Given the description of an element on the screen output the (x, y) to click on. 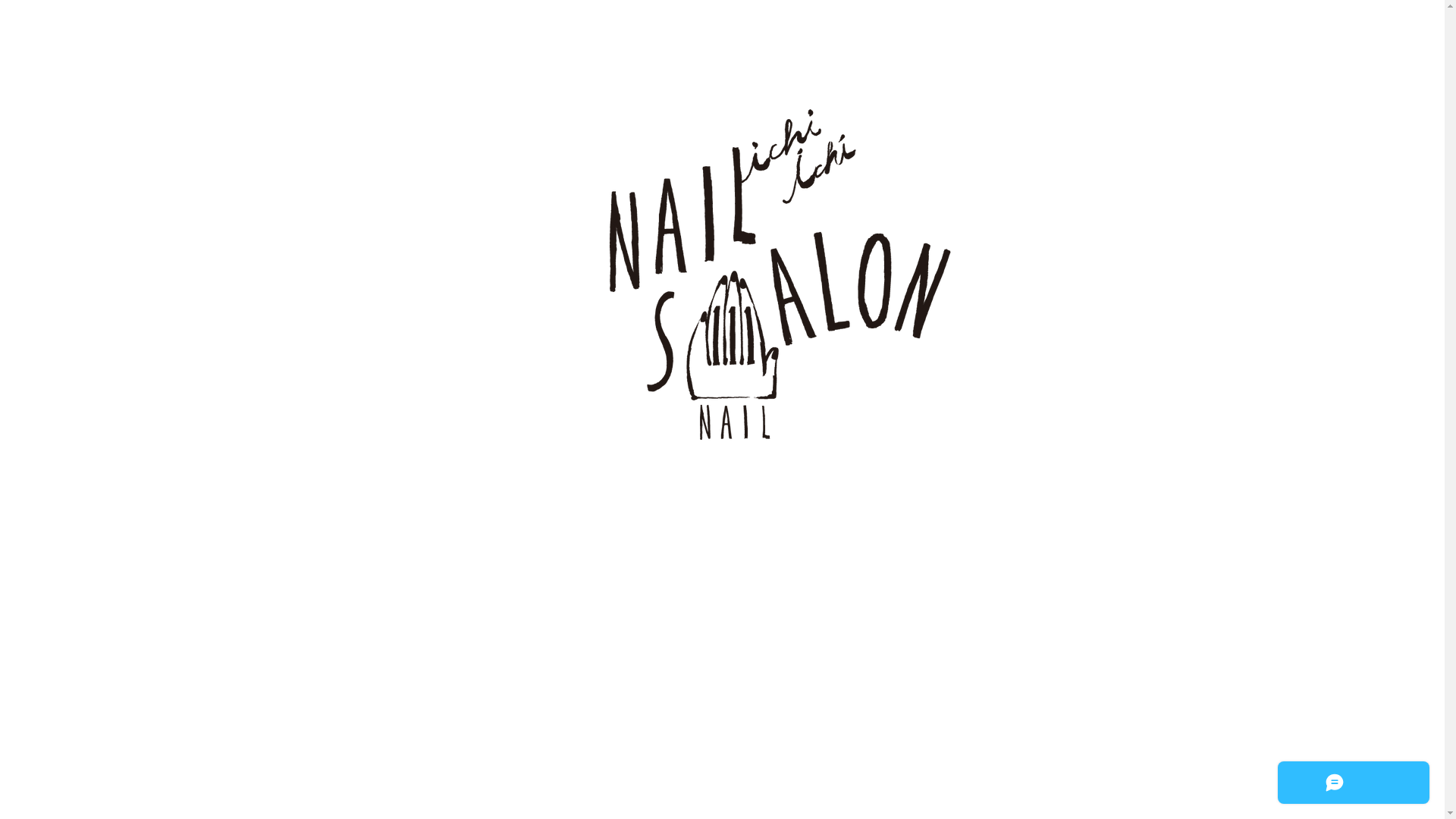
2ichi.png Element type: hover (721, 299)
MAP Element type: text (730, 655)
